Given the description of an element on the screen output the (x, y) to click on. 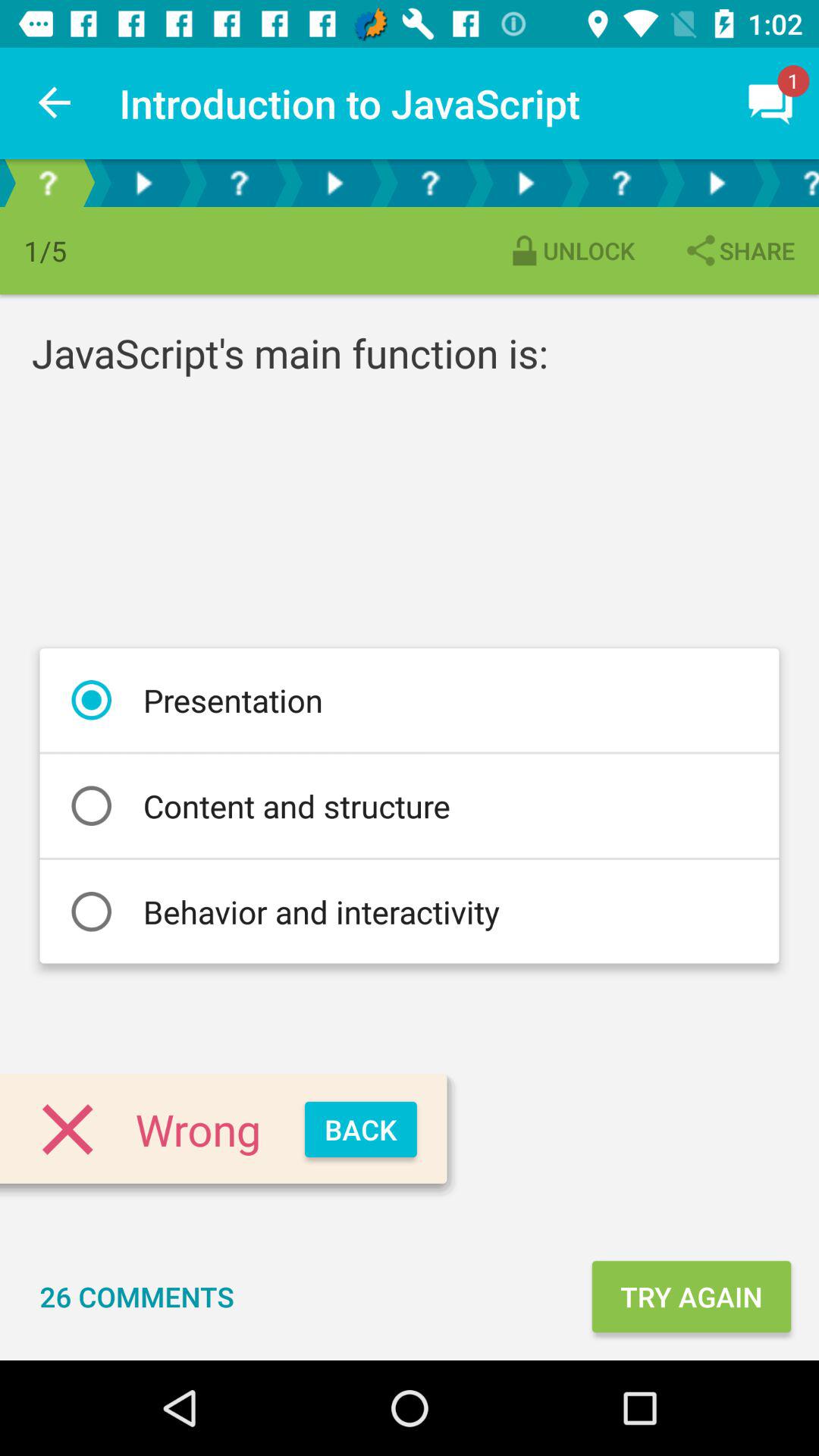
press item next to the unlock (738, 250)
